Given the description of an element on the screen output the (x, y) to click on. 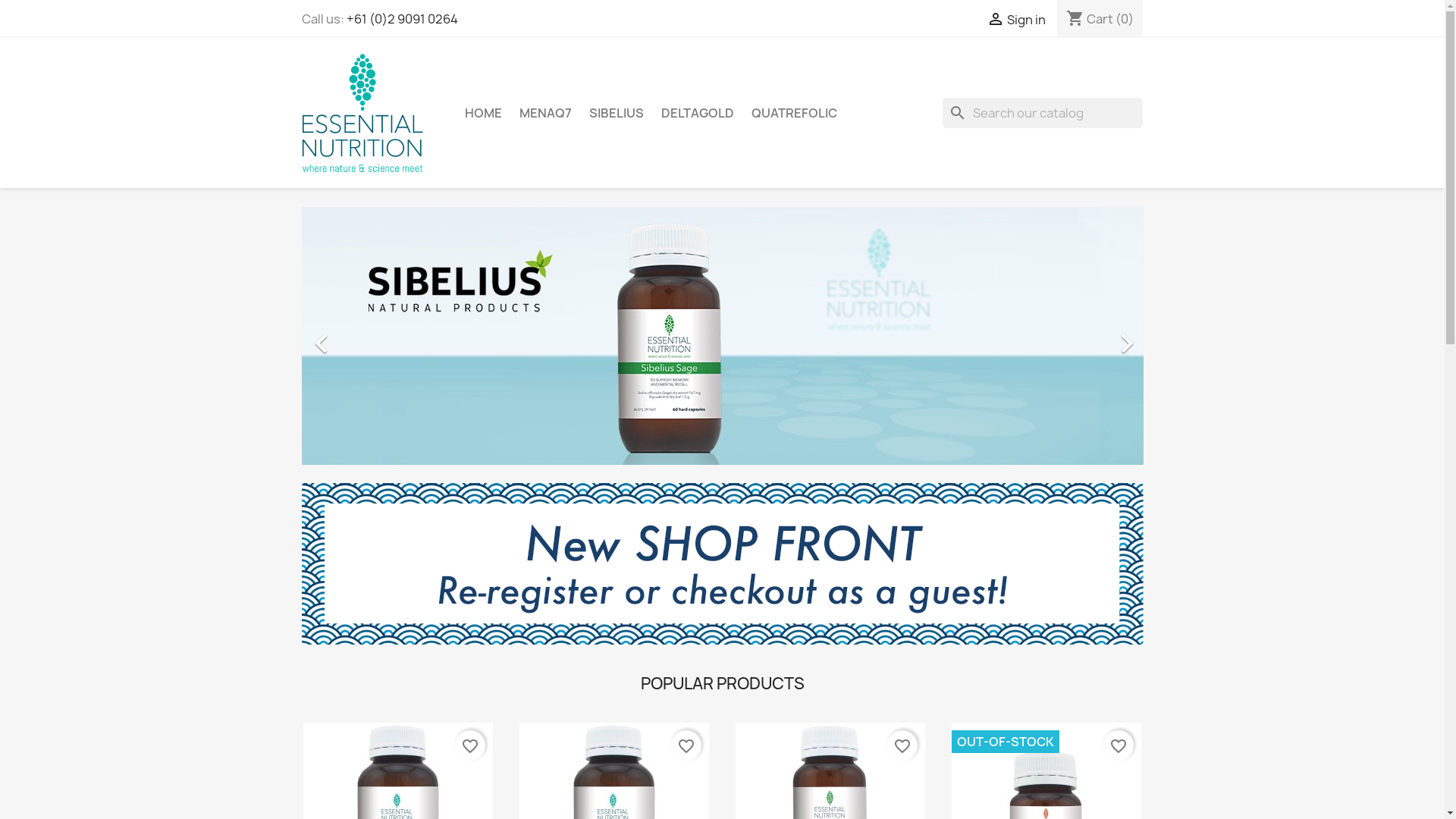
HOME Element type: text (482, 112)
SIBELIUS Element type: text (615, 112)
QUATREFOLIC Element type: text (793, 112)
favorite_border Element type: text (902, 745)
+61 (0)2 9091 0264 Element type: text (401, 18)
favorite_border Element type: text (686, 745)
MENAQ7 Element type: text (544, 112)
favorite_border Element type: text (1118, 745)
favorite_border Element type: text (470, 745)
DELTAGOLD Element type: text (697, 112)
